Given the description of an element on the screen output the (x, y) to click on. 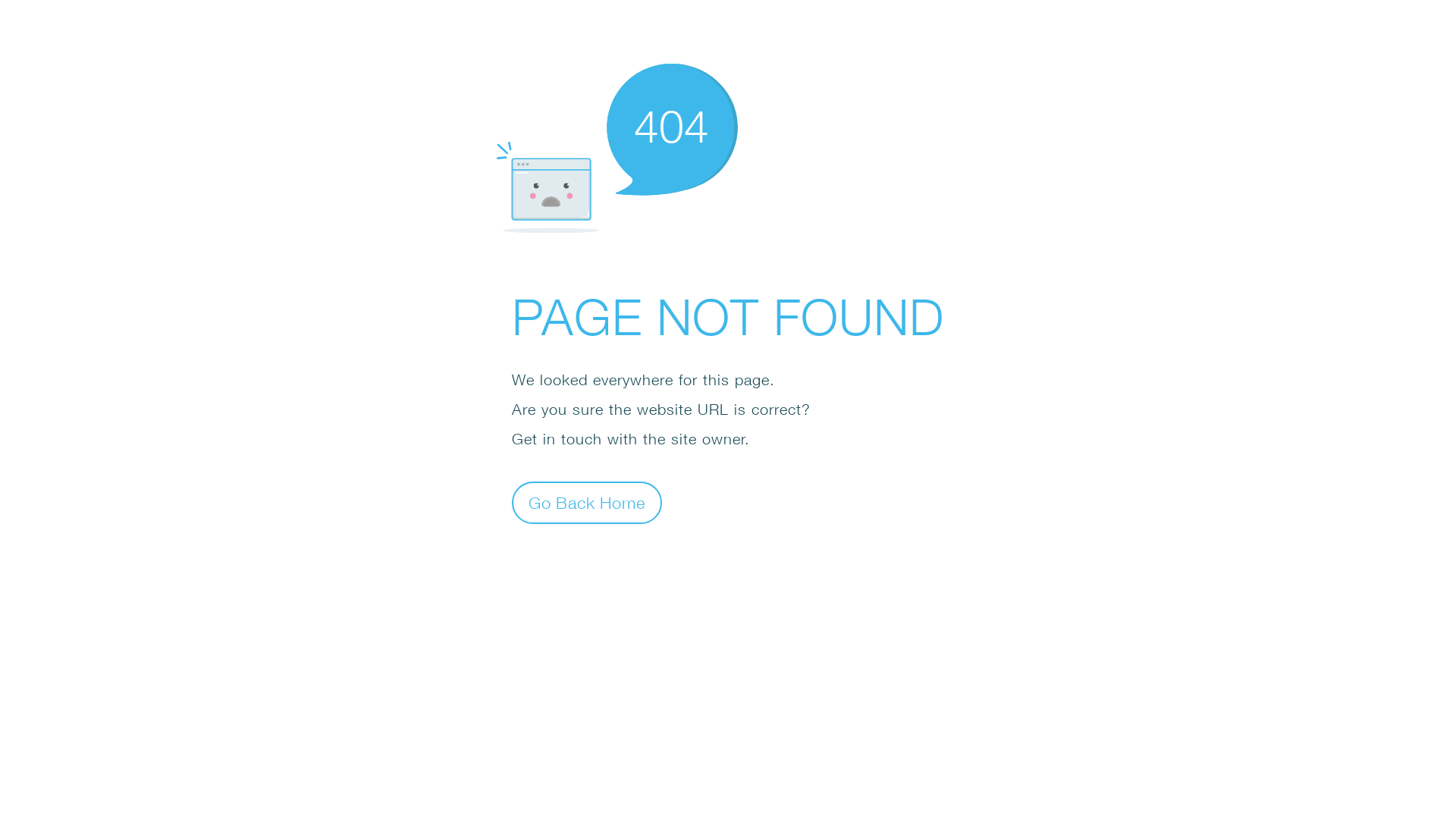
Go Back Home Element type: text (586, 502)
